Given the description of an element on the screen output the (x, y) to click on. 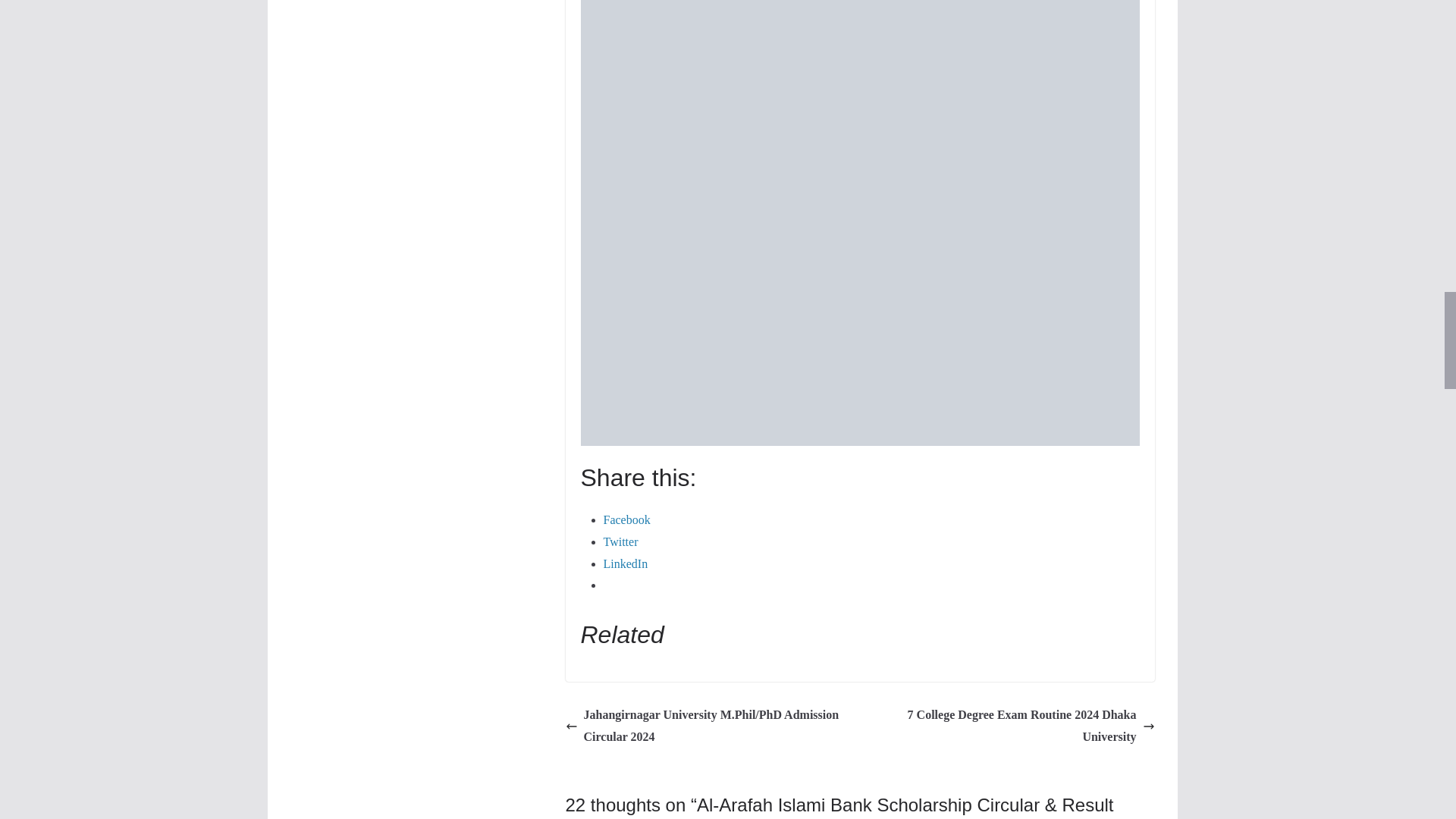
Facebook (627, 519)
7 College Degree Exam Routine 2024 Dhaka University (1010, 726)
Click to share on Facebook (627, 519)
Click to share on Twitter (621, 541)
LinkedIn (625, 563)
Twitter (621, 541)
Click to share on LinkedIn (625, 563)
